Given the description of an element on the screen output the (x, y) to click on. 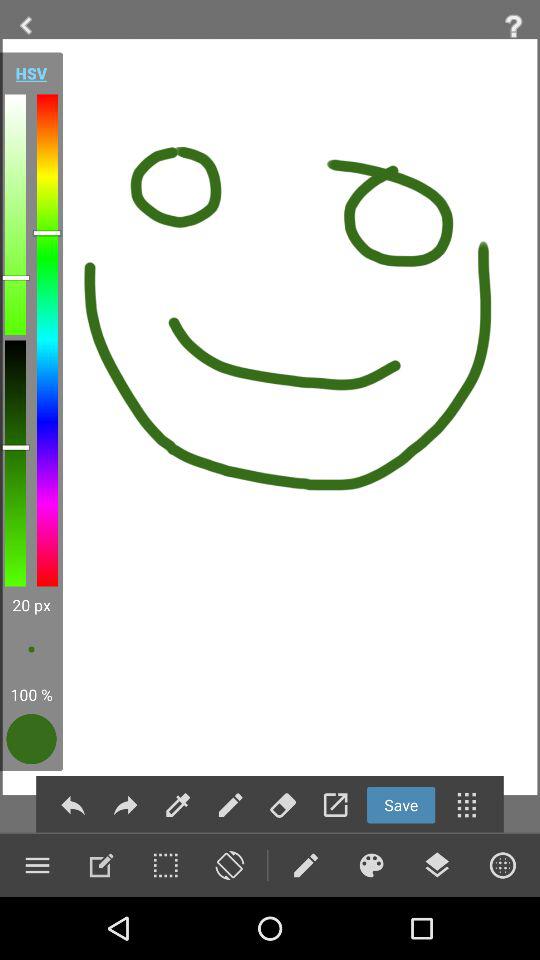
fullscreen (335, 804)
